Given the description of an element on the screen output the (x, y) to click on. 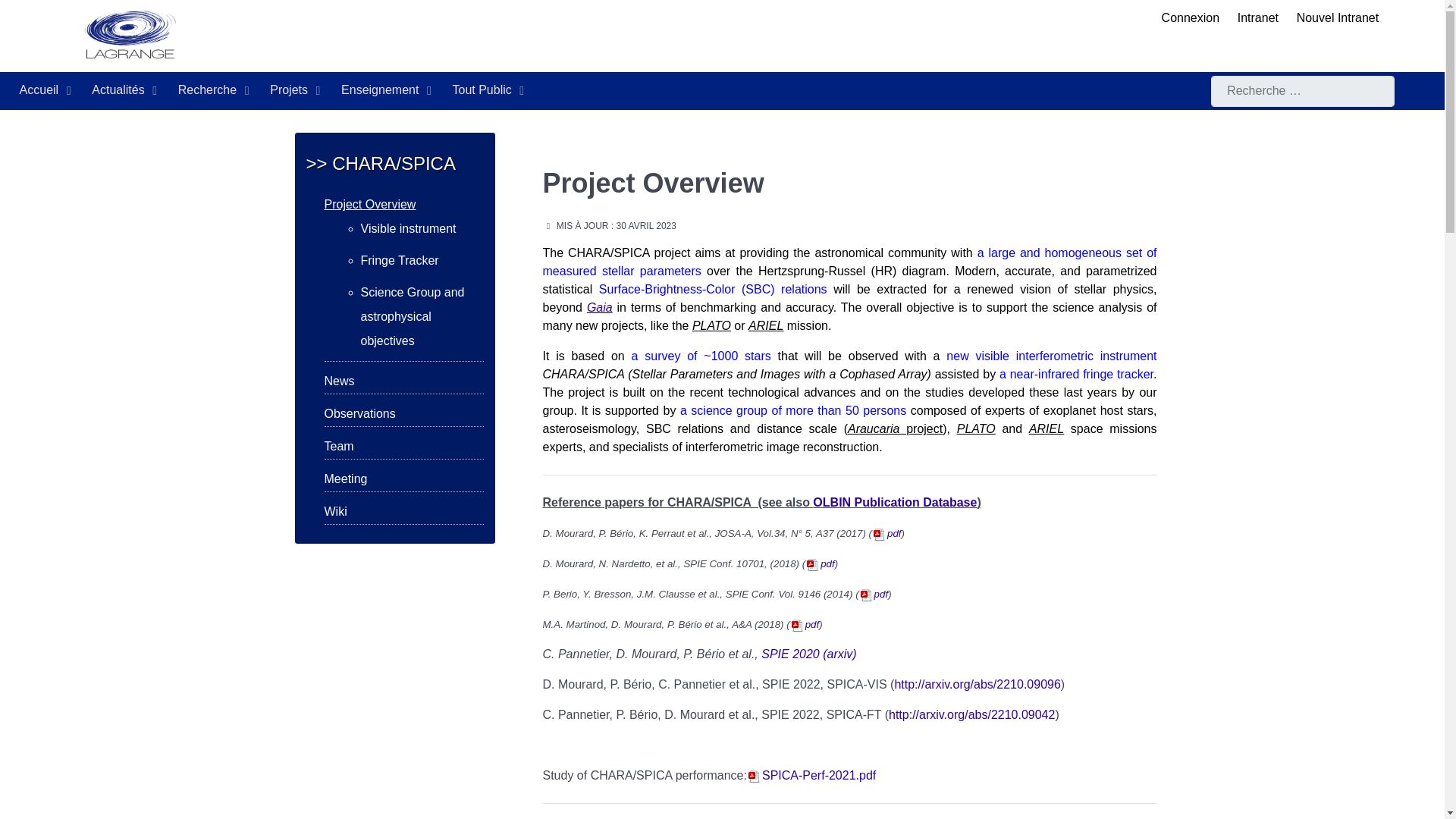
Nouvel Intranet (1337, 19)
Recherche (214, 91)
UMR Lagrange OCA Nice (577, 36)
Intranet (1257, 19)
Projets (296, 91)
Connexion (1190, 19)
Accueil (47, 91)
